Given the description of an element on the screen output the (x, y) to click on. 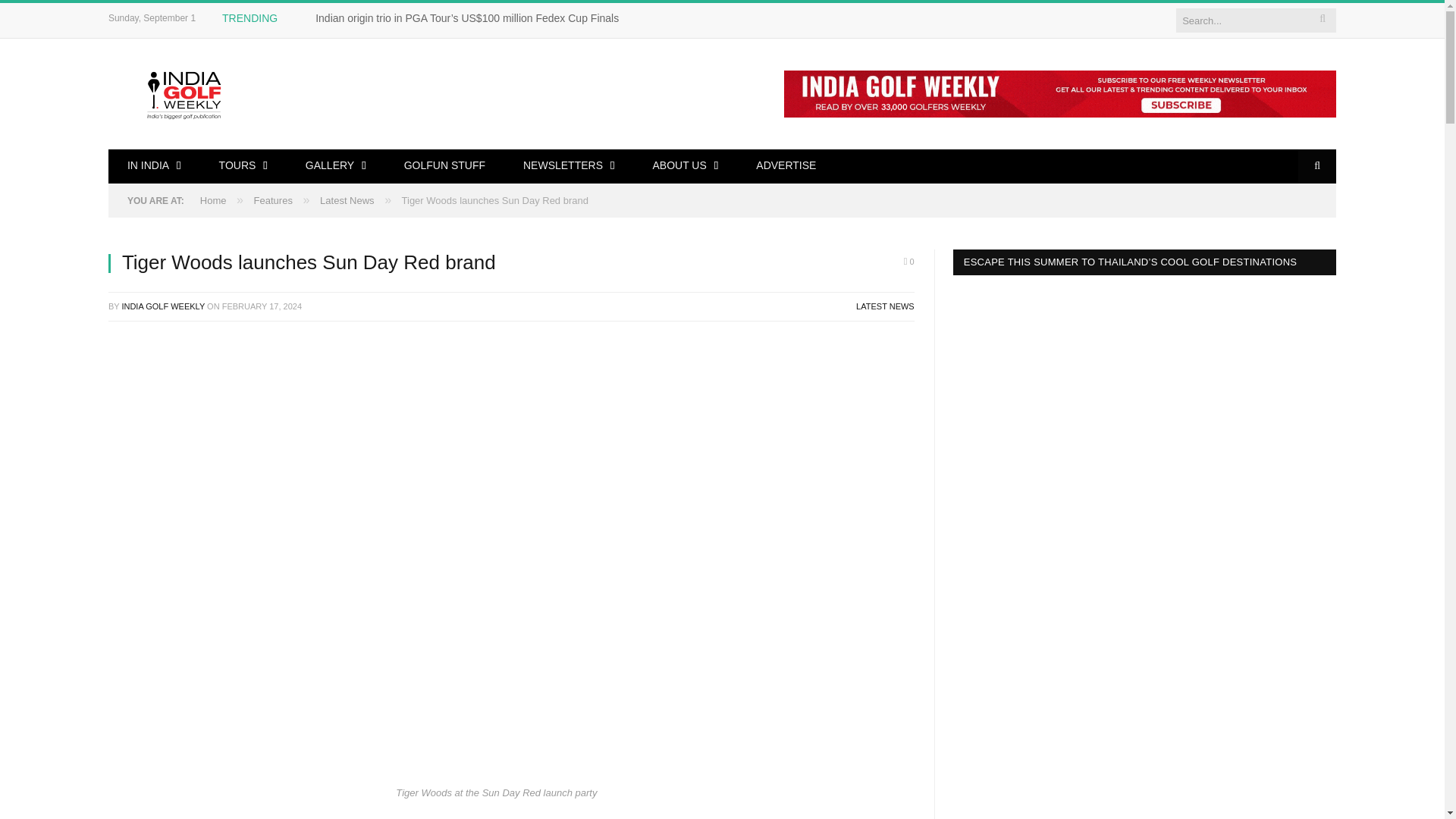
GALLERY (335, 166)
Posts by India Golf Weekly (162, 306)
TOURS (243, 166)
Search (1317, 166)
2024-02-17 (261, 306)
IN INDIA (153, 166)
